Given the description of an element on the screen output the (x, y) to click on. 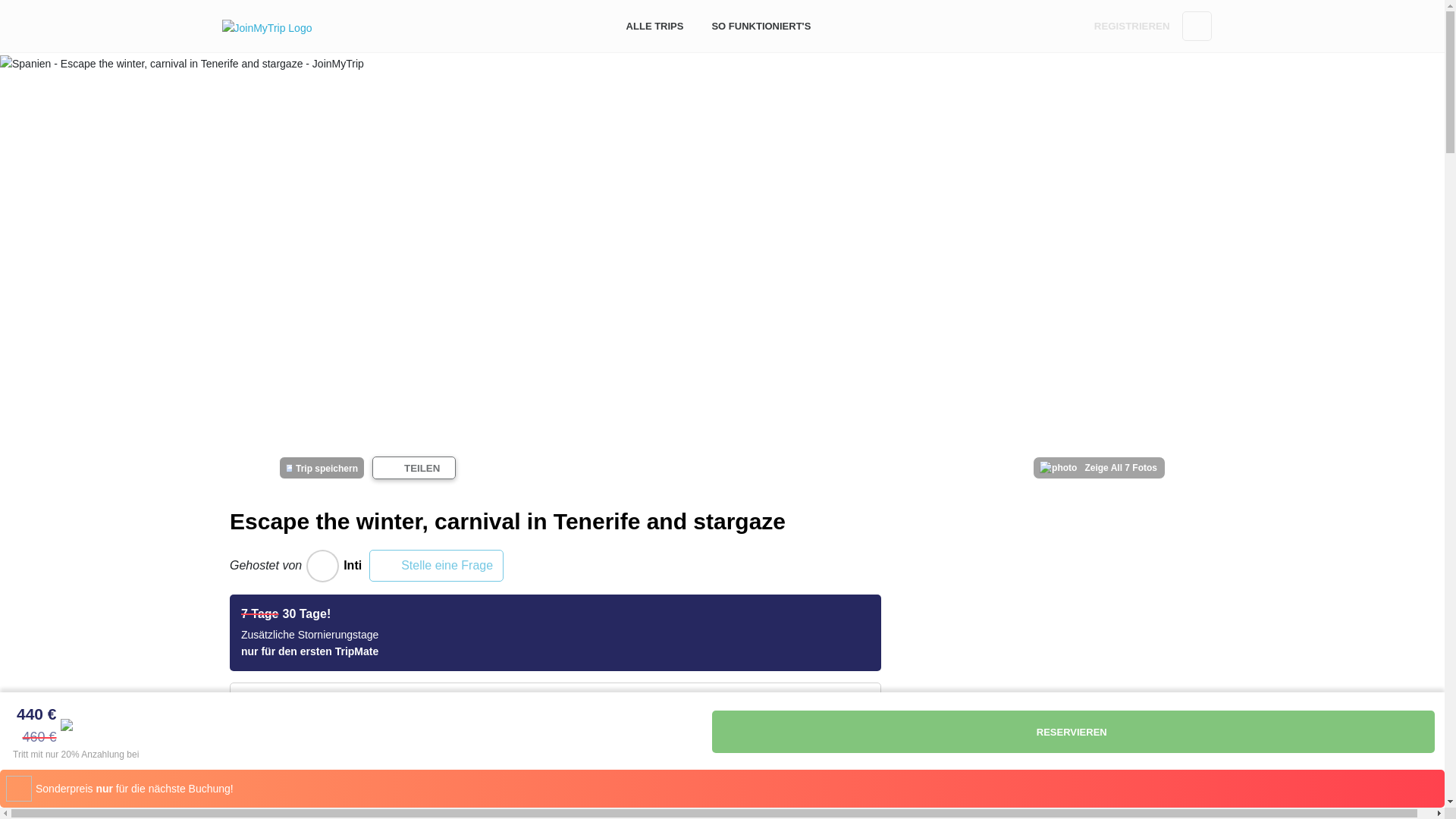
Stelle eine Frage (436, 565)
Spanien (546, 790)
Inti (331, 565)
SO FUNKTIONIERT'S (760, 25)
Trip speichern (322, 467)
Inti (322, 565)
TEILEN (413, 467)
REGISTRIEREN (1131, 26)
RESERVIEREN (1072, 731)
ALLE TRIPS (655, 25)
